Given the description of an element on the screen output the (x, y) to click on. 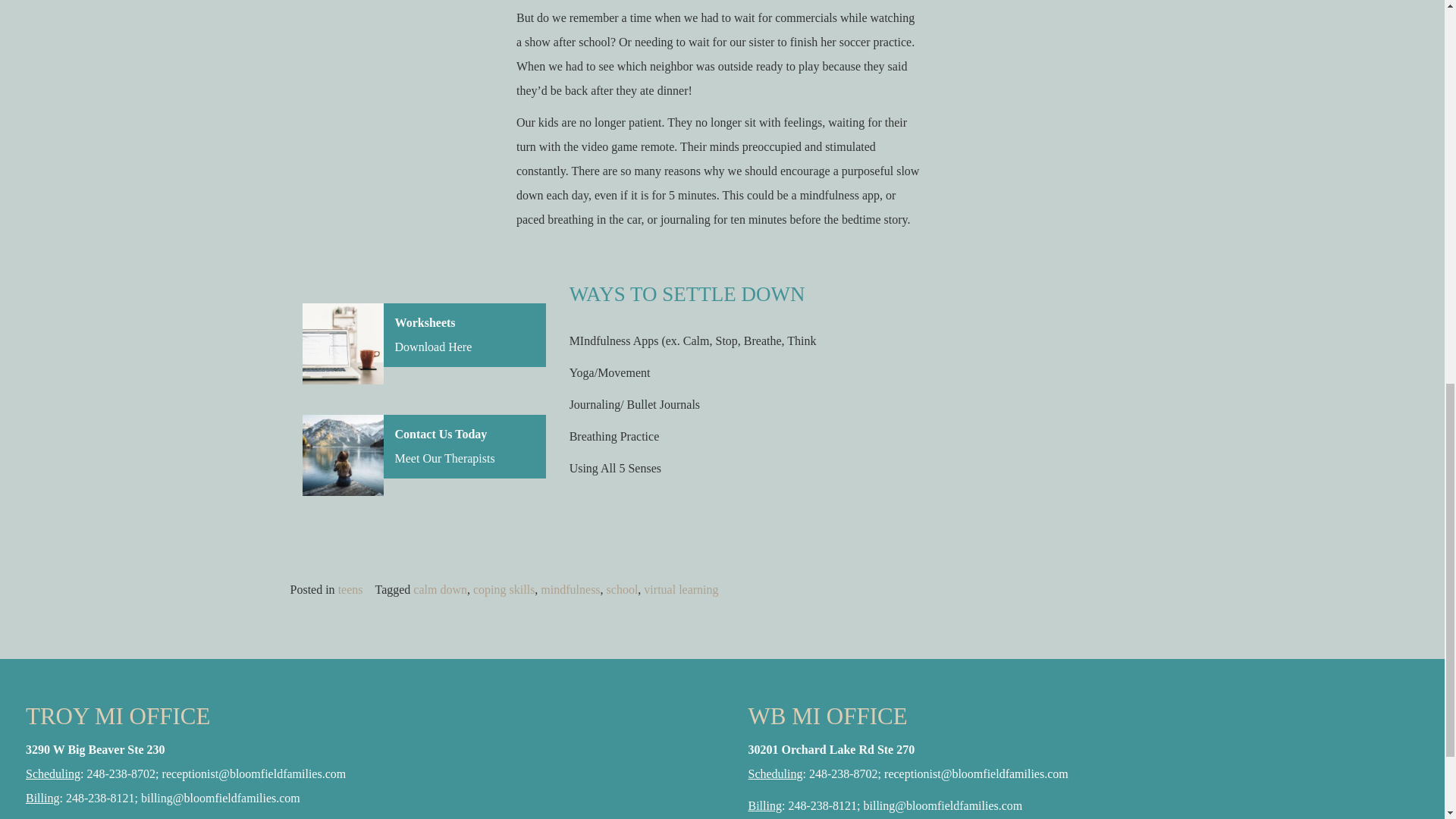
Download Here (432, 346)
school (623, 589)
coping skills (503, 589)
virtual learning (680, 589)
calm down (440, 589)
Meet Our Therapists (444, 458)
mindfulness (569, 589)
teens (349, 589)
